Given the description of an element on the screen output the (x, y) to click on. 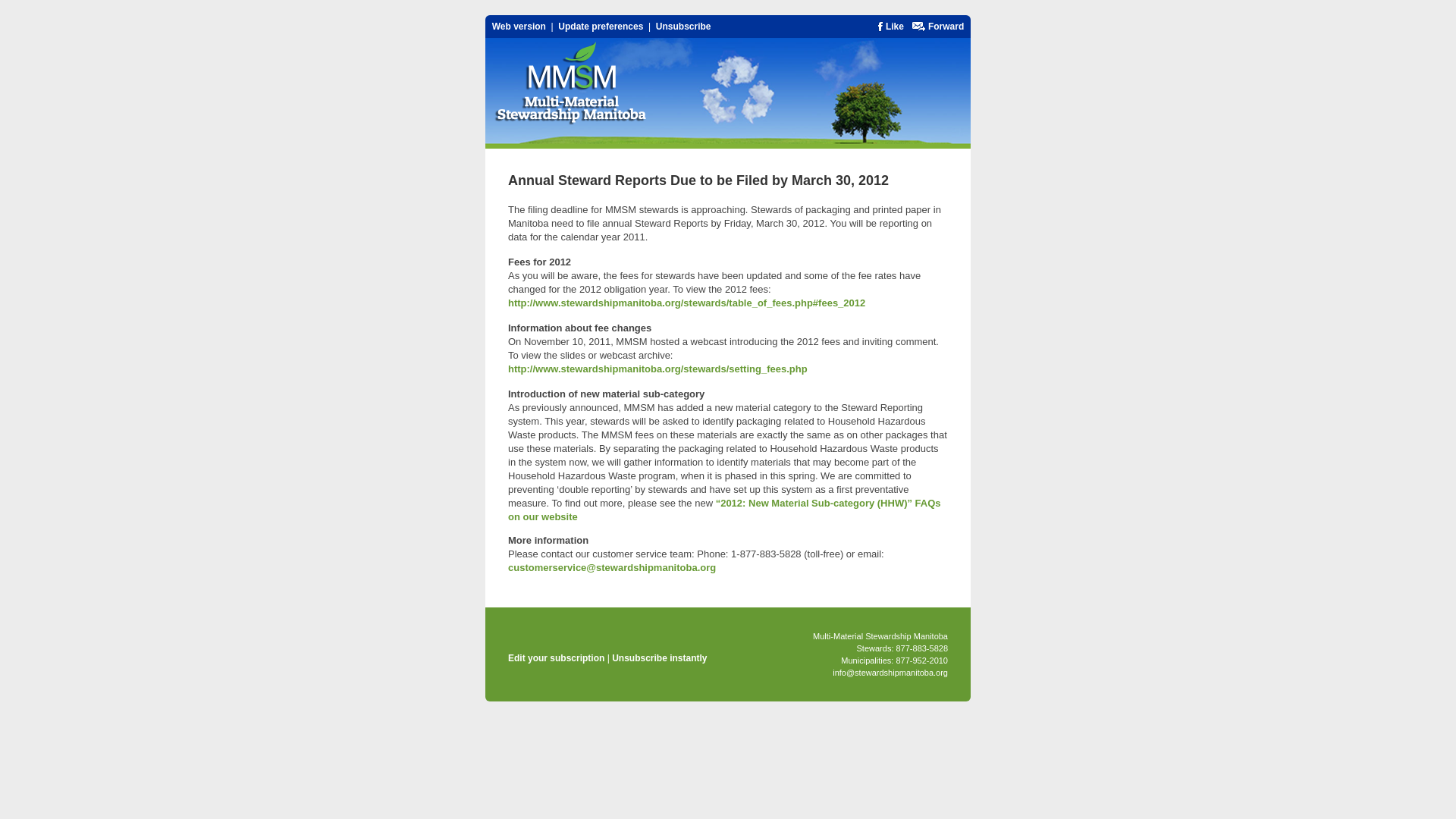
Like (894, 26)
Forward (945, 26)
Update preferences (600, 26)
Unsubscribe (683, 26)
Unsubscribe instantly (658, 657)
Web version (519, 26)
Edit your subscription (556, 657)
